Given the description of an element on the screen output the (x, y) to click on. 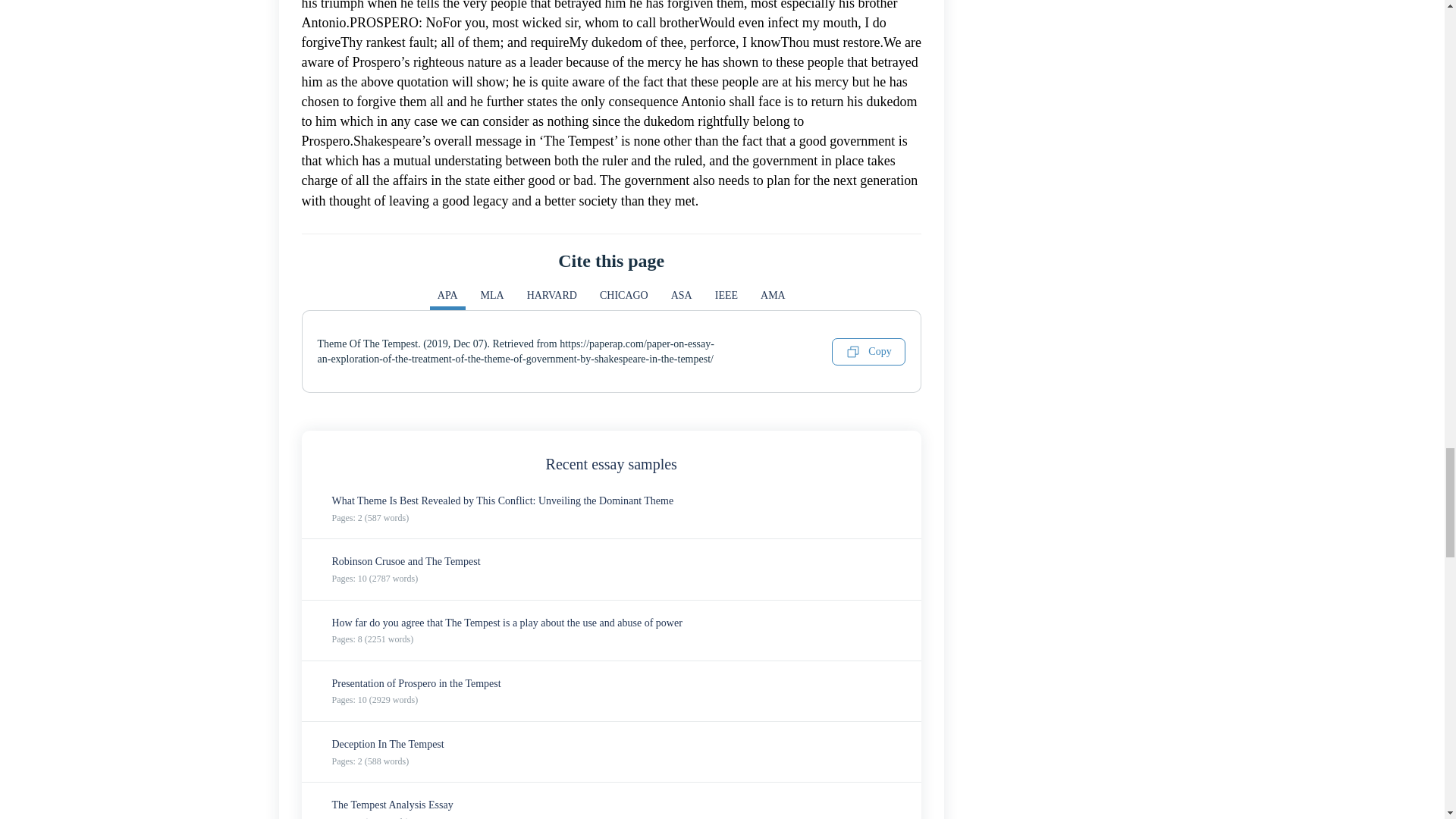
HARVARD (552, 298)
APA (447, 298)
AMA (772, 298)
ASA (681, 298)
The Tempest Analysis Essay (391, 804)
MLA (492, 298)
Copy (868, 351)
IEEE (726, 298)
Presentation of Prospero in the Tempest (415, 683)
Robinson Crusoe and The Tempest (405, 561)
CHICAGO (624, 298)
Deception In The Tempest (387, 744)
